Given the description of an element on the screen output the (x, y) to click on. 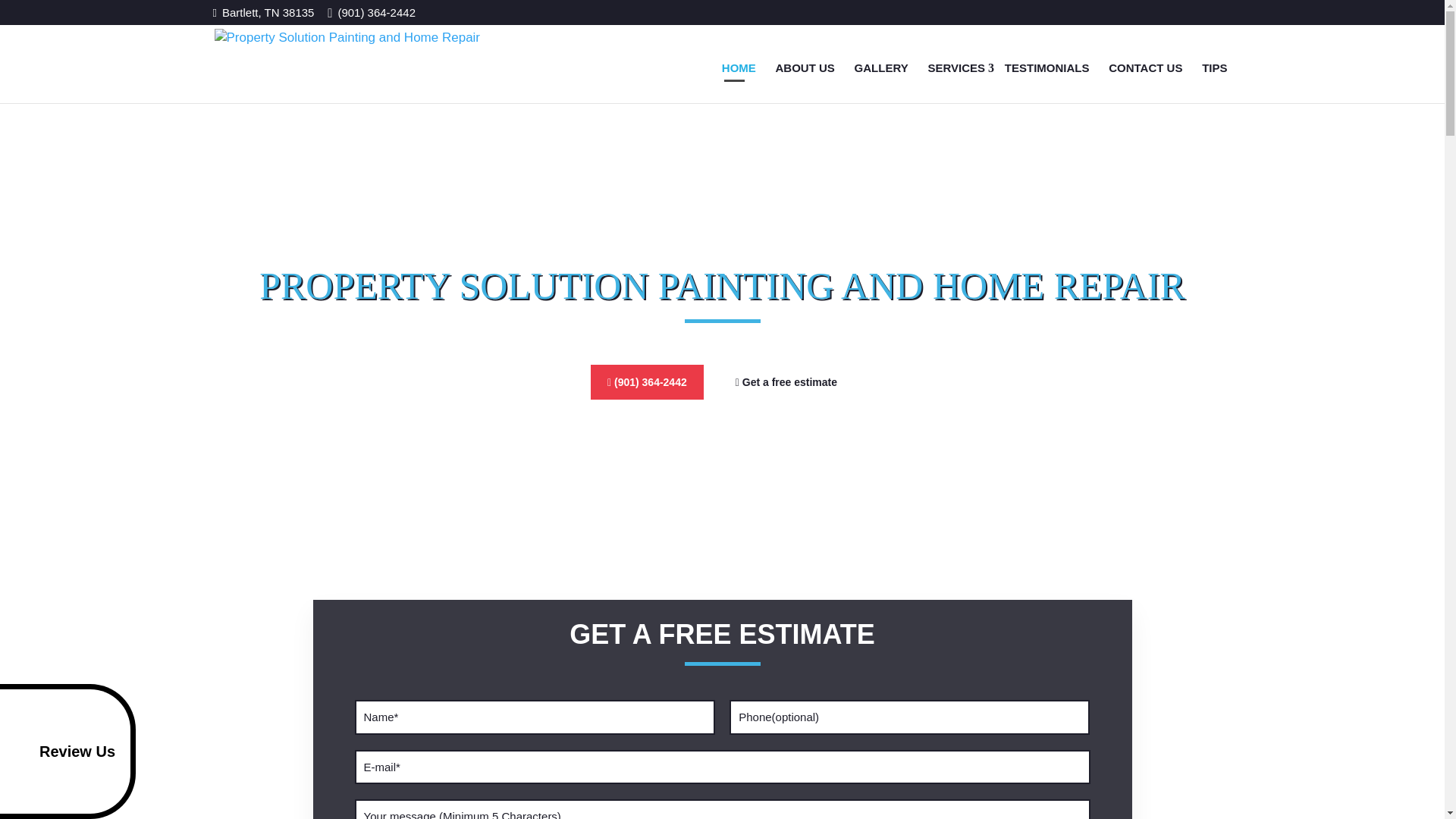
Customer E-mail (722, 766)
Review Us (67, 751)
TESTIMONIALS (1047, 67)
CONTACT US (1145, 67)
GALLERY (881, 67)
SERVICES (956, 67)
Phone (909, 716)
Message (722, 809)
Customer Name (534, 716)
ABOUT US (805, 67)
